Given the description of an element on the screen output the (x, y) to click on. 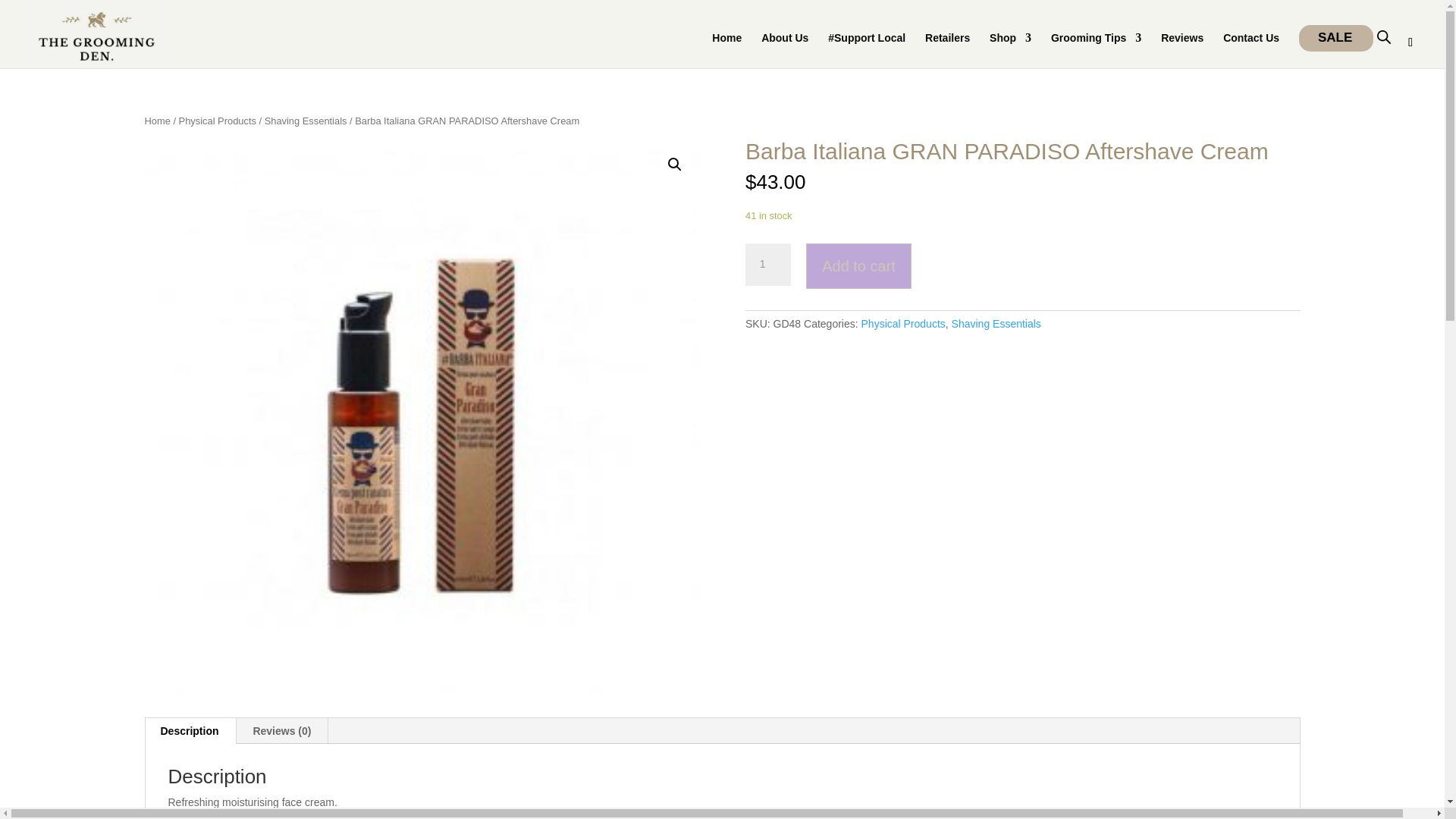
Shop (1010, 49)
Retailers (946, 49)
1 (767, 264)
Reviews (1182, 49)
About Us (784, 49)
Grooming Tips (1096, 49)
SALE (1327, 38)
Contact Us (1251, 49)
